Given the description of an element on the screen output the (x, y) to click on. 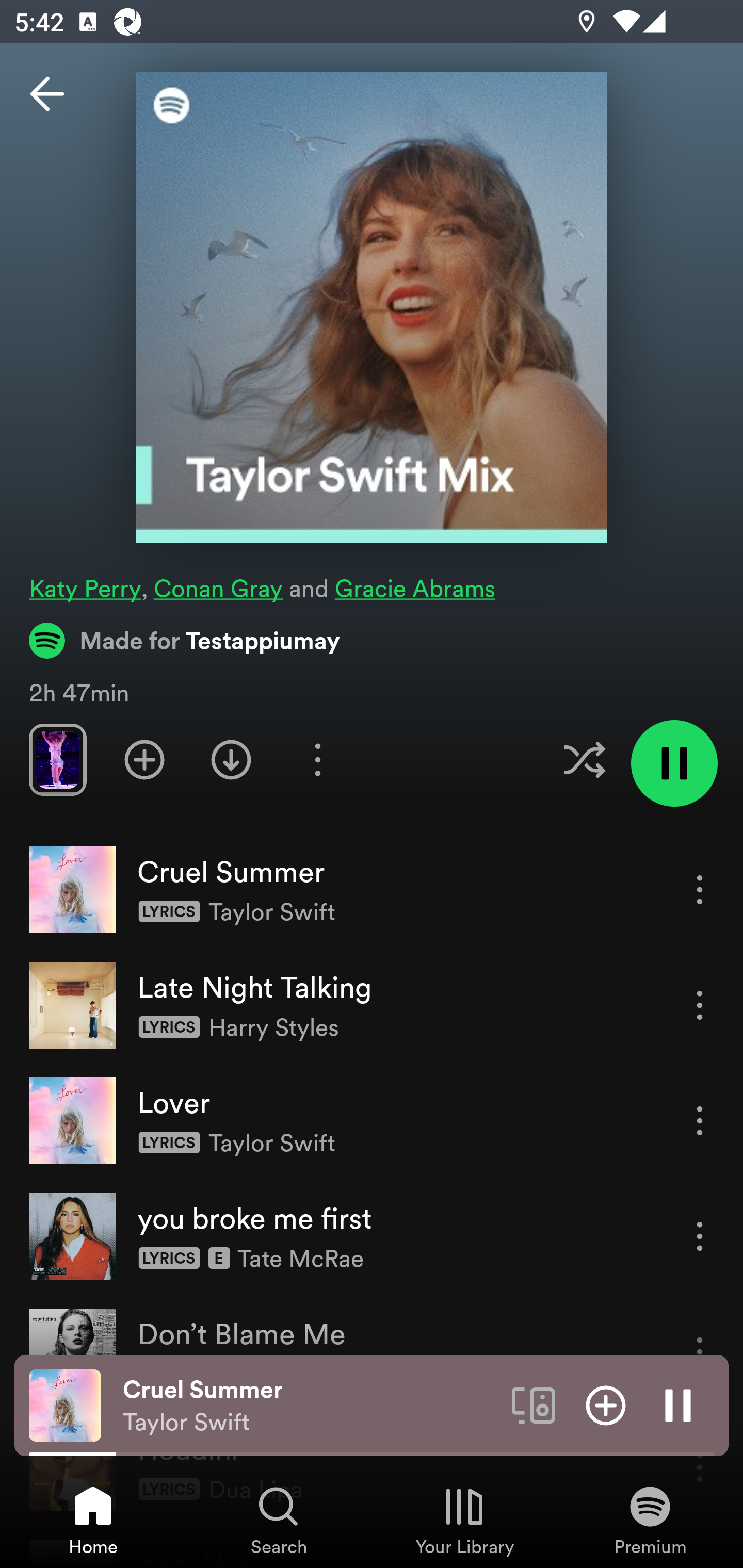
Back (46, 93)
Made for Testappiumay (184, 640)
Add playlist to Your Library (144, 759)
Download (230, 759)
More options for playlist Taylor Swift Mix (317, 759)
Enable shuffle for this playlist (583, 759)
Pause playlist (674, 763)
More options for song Cruel Summer (699, 889)
More options for song Late Night Talking (699, 1004)
More options for song Lover (699, 1120)
More options for song you broke me first (699, 1236)
Cruel Summer Taylor Swift (309, 1405)
The cover art of the currently playing track (64, 1404)
Connect to a device. Opens the devices menu (533, 1404)
Add item (605, 1404)
Pause (677, 1404)
Home, Tab 1 of 4 Home Home (92, 1519)
Search, Tab 2 of 4 Search Search (278, 1519)
Your Library, Tab 3 of 4 Your Library Your Library (464, 1519)
Premium, Tab 4 of 4 Premium Premium (650, 1519)
